Given the description of an element on the screen output the (x, y) to click on. 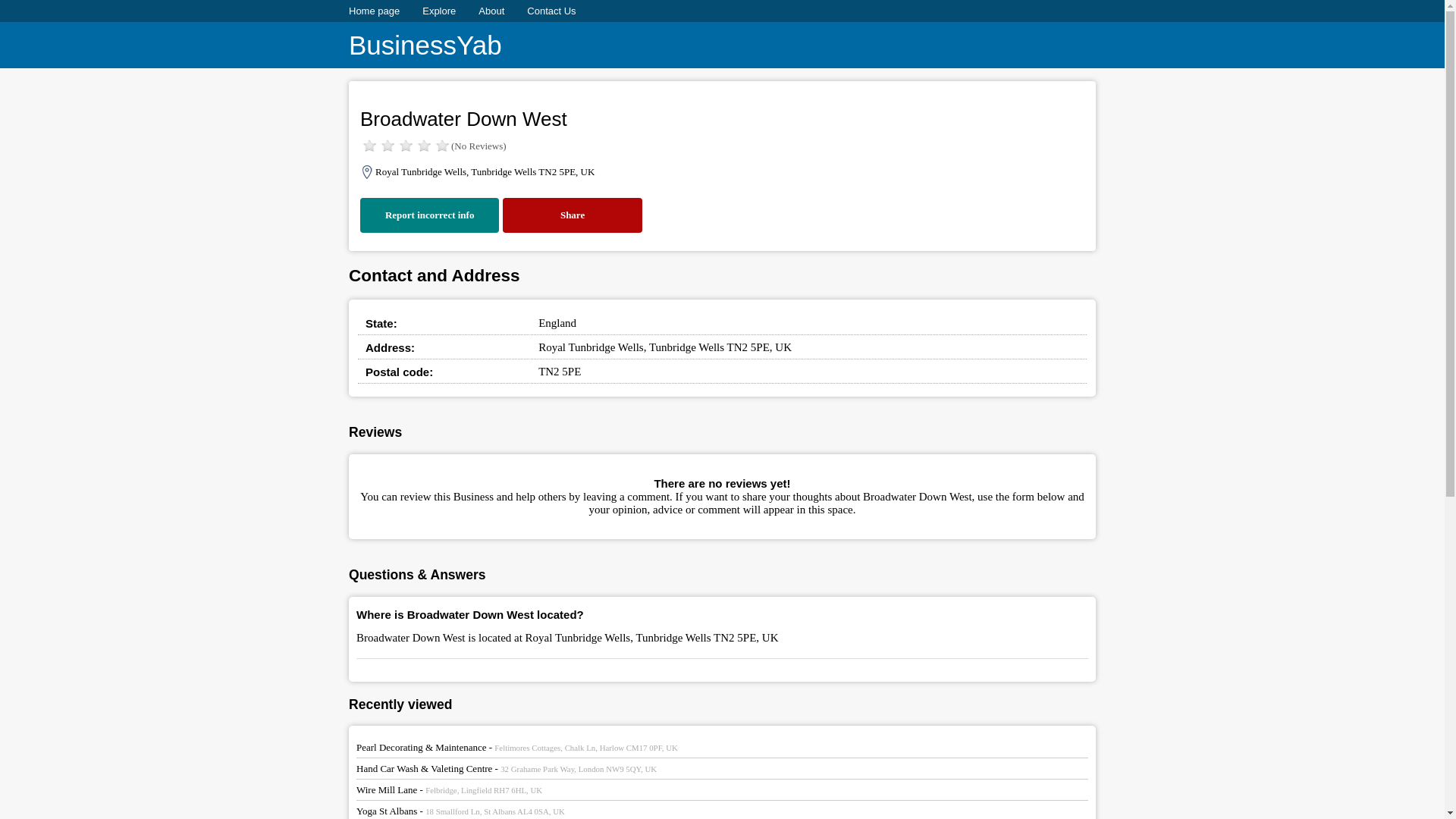
Explore (438, 10)
About (491, 10)
BusinessYab (425, 46)
Home page (373, 10)
Contact Us (551, 10)
Yoga St Albans - 18 Smallford Ln, St Albans AL4 0SA, UK (460, 810)
Wire Mill Lane - Felbridge, Lingfield RH7 6HL, UK (448, 789)
Report incorrect info (429, 215)
